Given the description of an element on the screen output the (x, y) to click on. 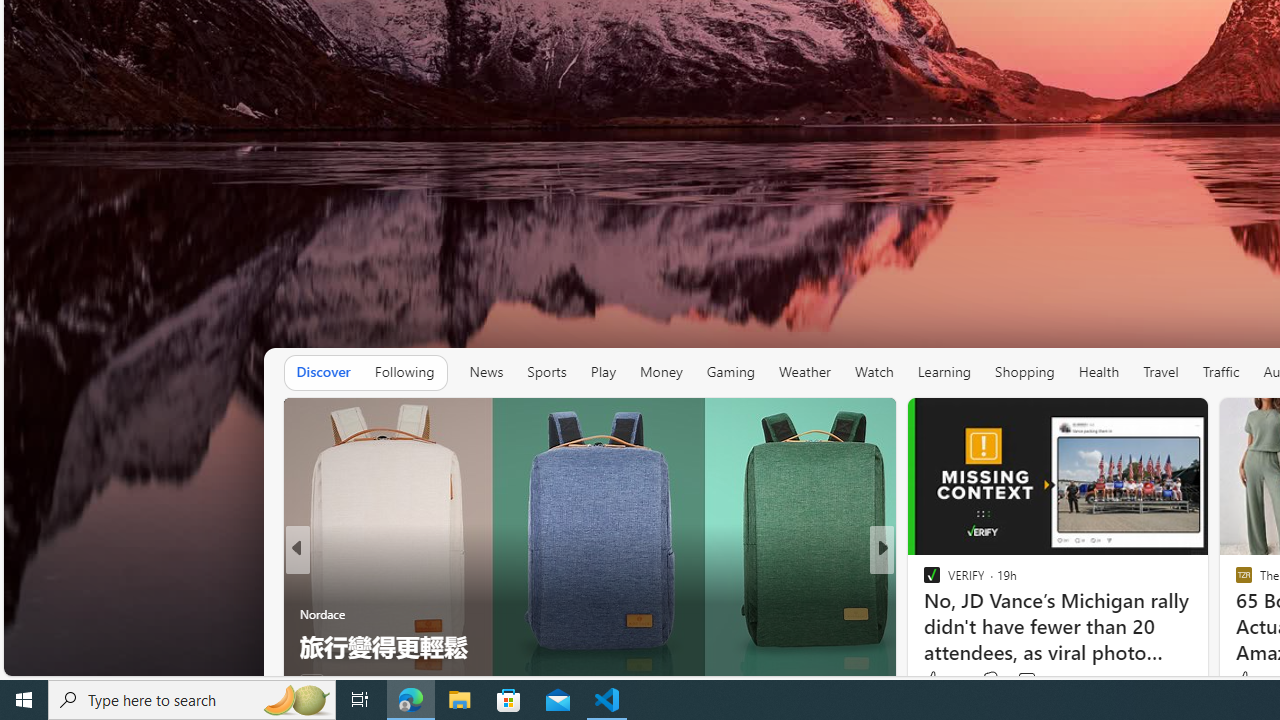
6 Like (930, 681)
View comments 1 Comment (1013, 681)
View comments 12 Comment (1022, 681)
